Given the description of an element on the screen output the (x, y) to click on. 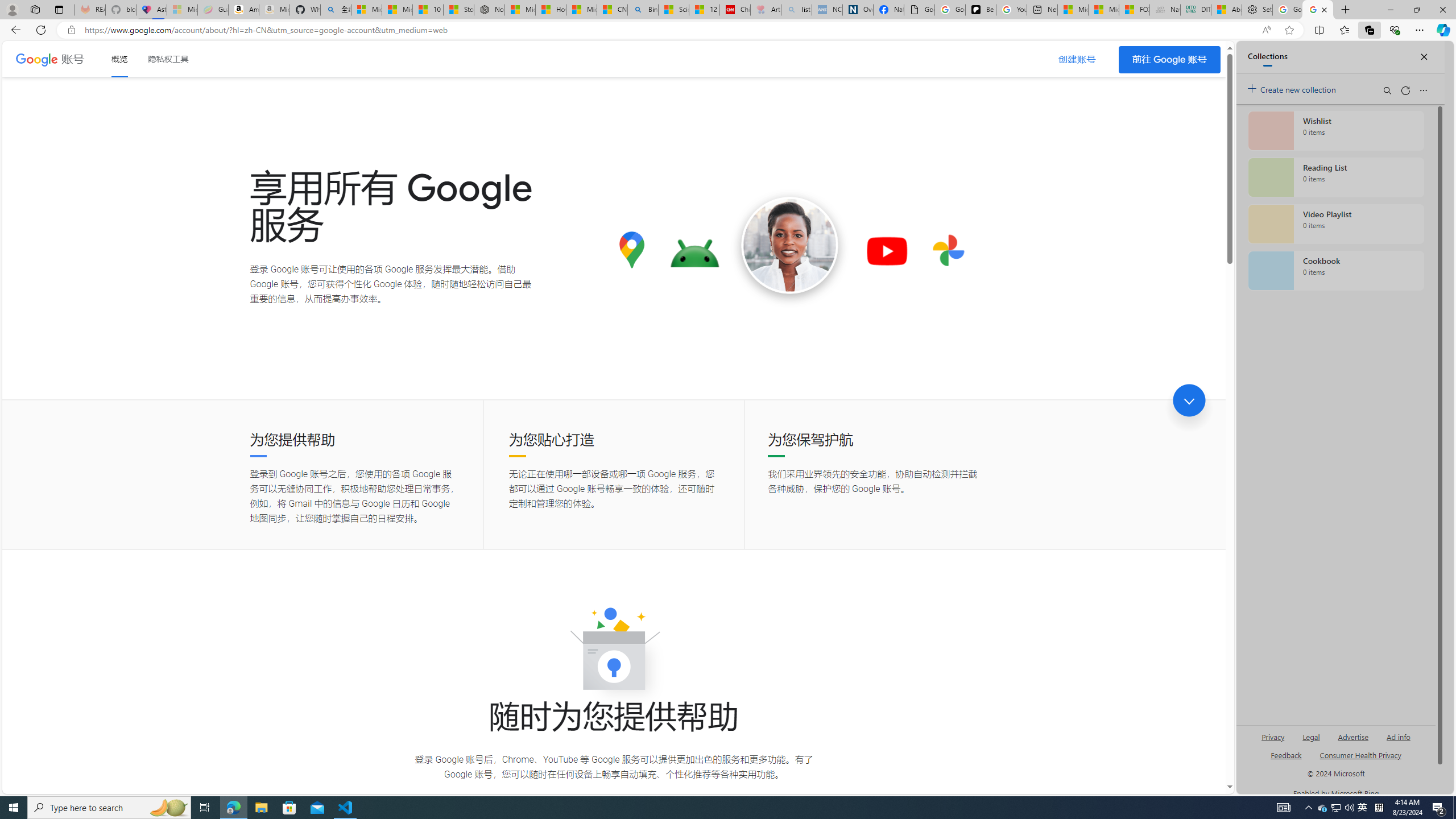
Science - MSN (673, 9)
Microsoft-Report a Concern to Bing - Sleeping (181, 9)
FOX News - MSN (1133, 9)
CNN - MSN (611, 9)
DITOGAMES AG Imprint (1194, 9)
